Given the description of an element on the screen output the (x, y) to click on. 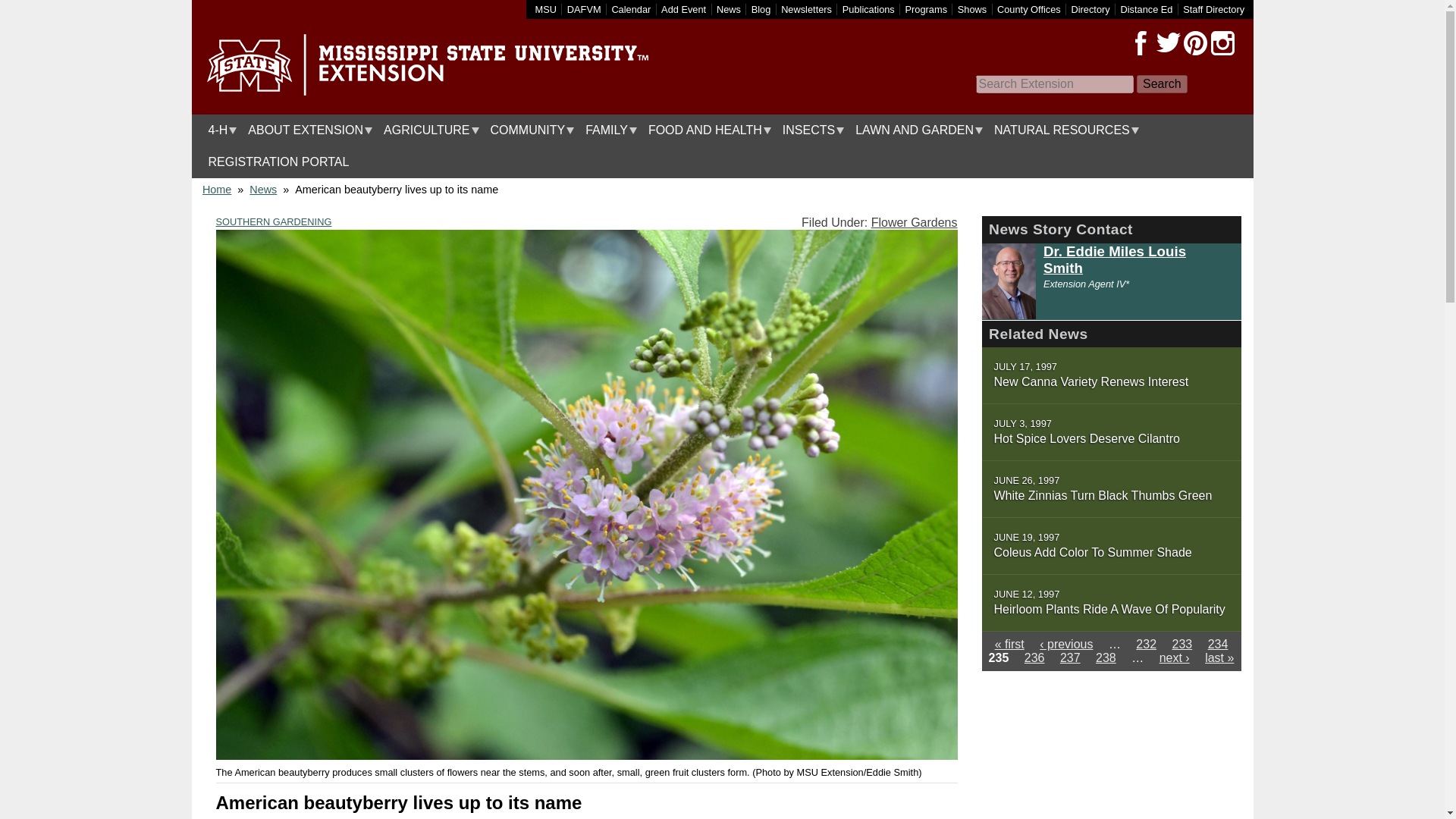
Staff Directory (1213, 9)
MSU (545, 9)
Facebook (1140, 43)
Directory (1089, 9)
Search (1162, 84)
Blog (761, 9)
Instagram (1221, 43)
List of Extension Programs (926, 9)
News (728, 9)
4-H (218, 130)
County Offices (1029, 9)
Directory of employees of the MSU Extension Service (1213, 9)
